Given the description of an element on the screen output the (x, y) to click on. 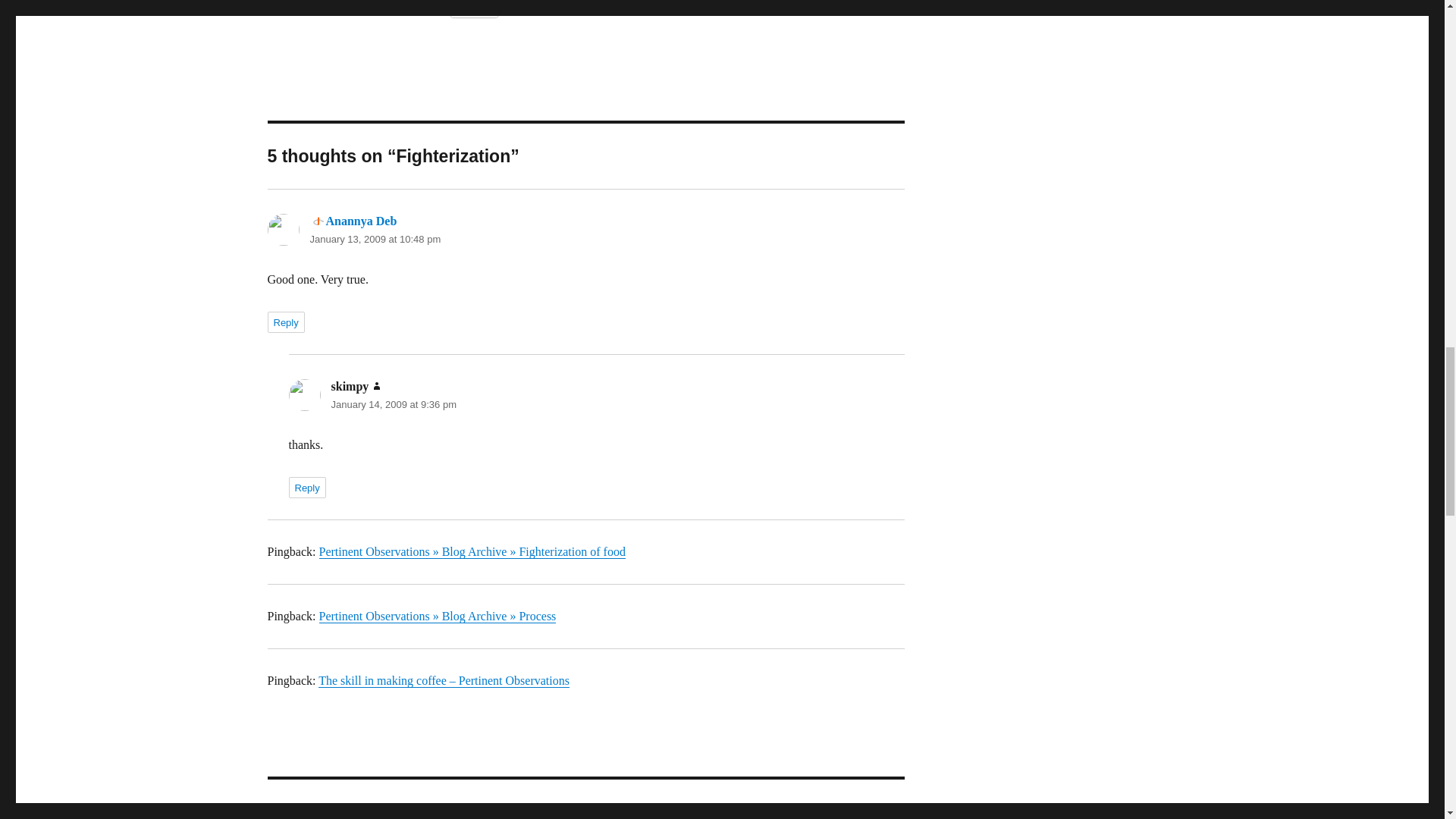
Like or Reblog (676, 18)
